Given the description of an element on the screen output the (x, y) to click on. 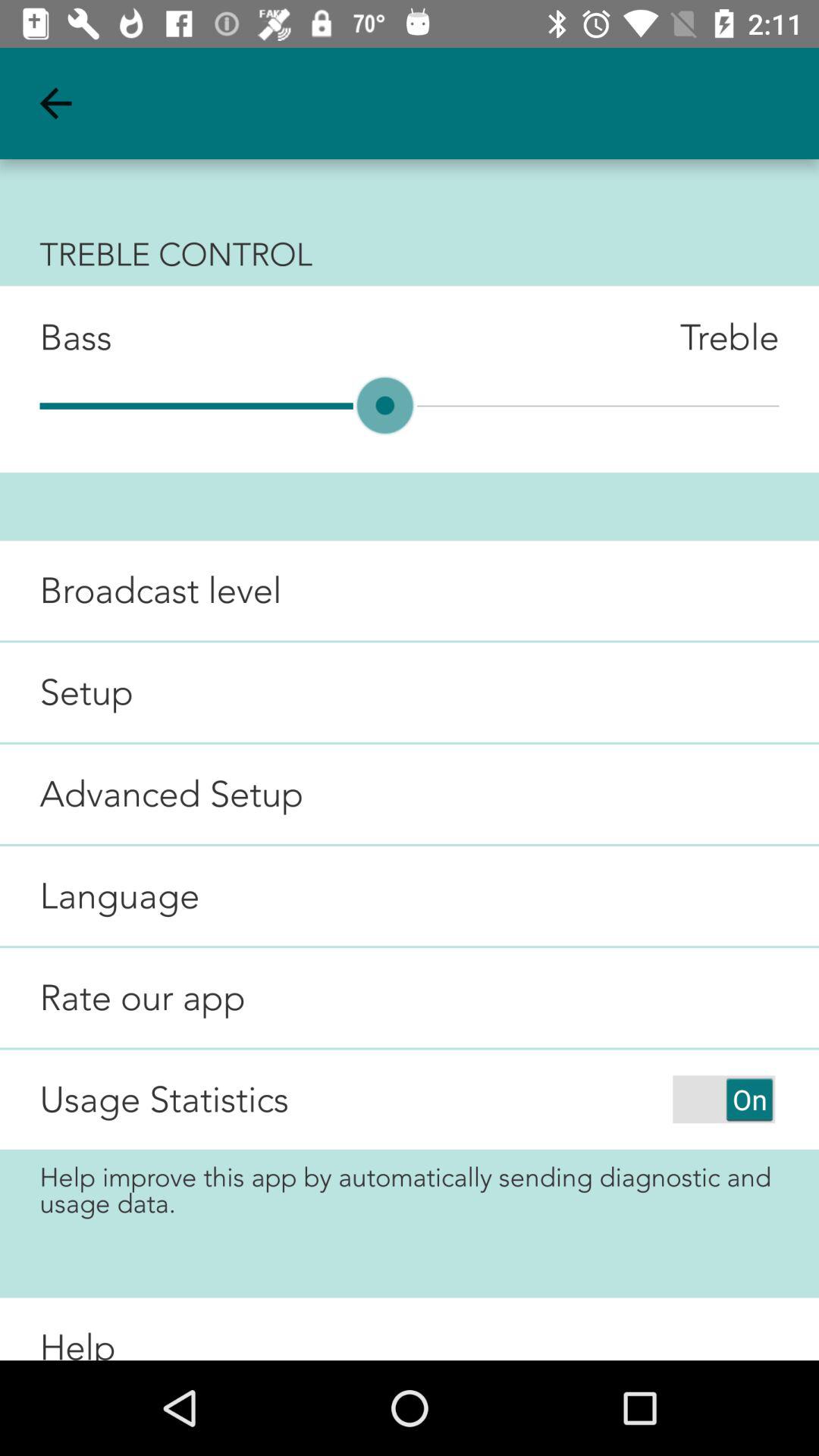
scroll to the treble control icon (409, 254)
